Given the description of an element on the screen output the (x, y) to click on. 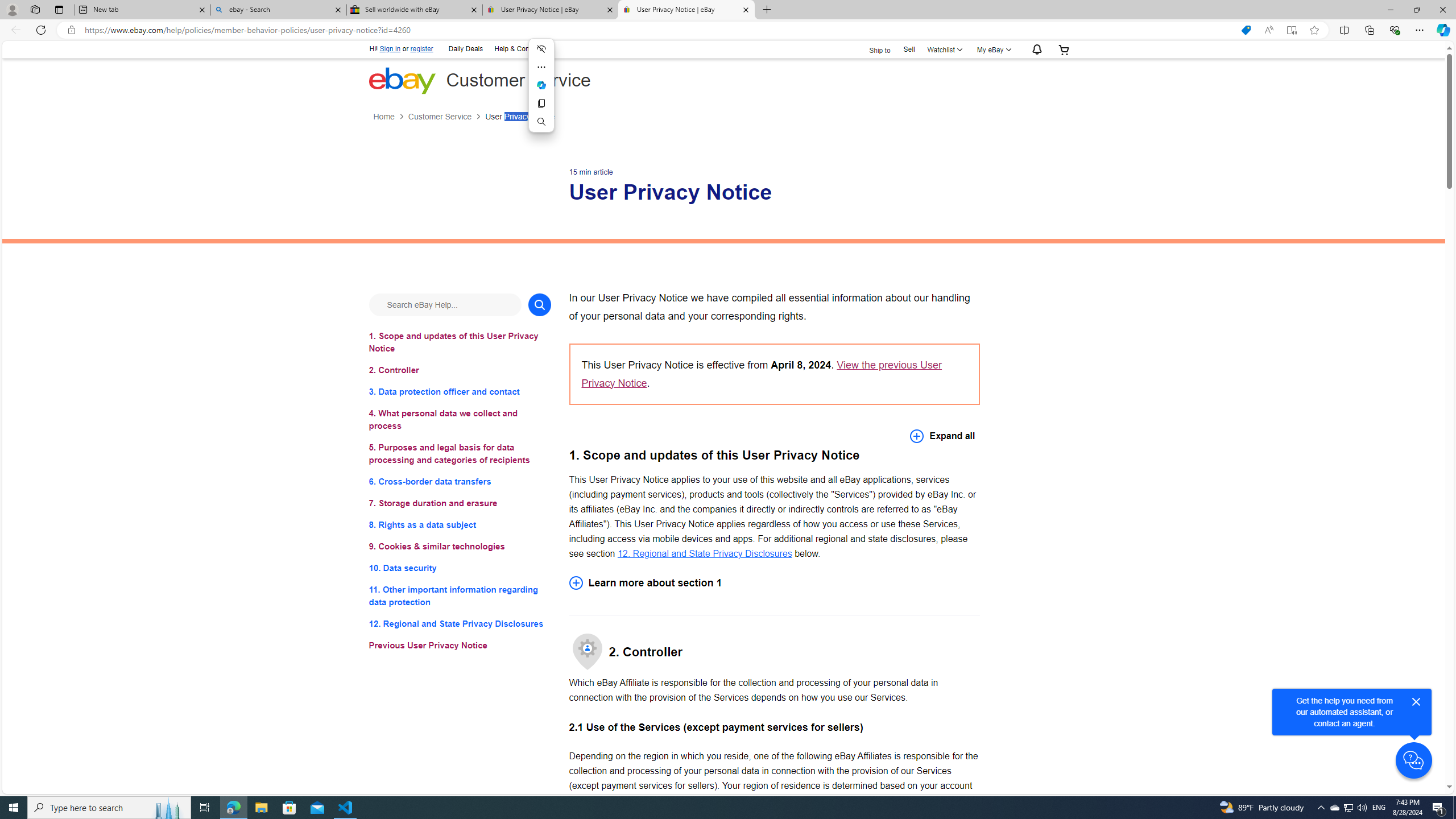
12. Regional and State Privacy Disclosures (704, 552)
Notifications (1034, 49)
1. Scope and updates of this User Privacy Notice (459, 341)
Your shopping cart (1064, 49)
10. Data security (459, 567)
This site has coupons! Shopping in Microsoft Edge (1245, 29)
Learn more about section 1 (774, 582)
Ship to (872, 48)
User Privacy Notice (520, 117)
AutomationID: gh-eb-Alerts (1035, 49)
Daily Deals (465, 48)
Search eBay Help... (444, 304)
